Given the description of an element on the screen output the (x, y) to click on. 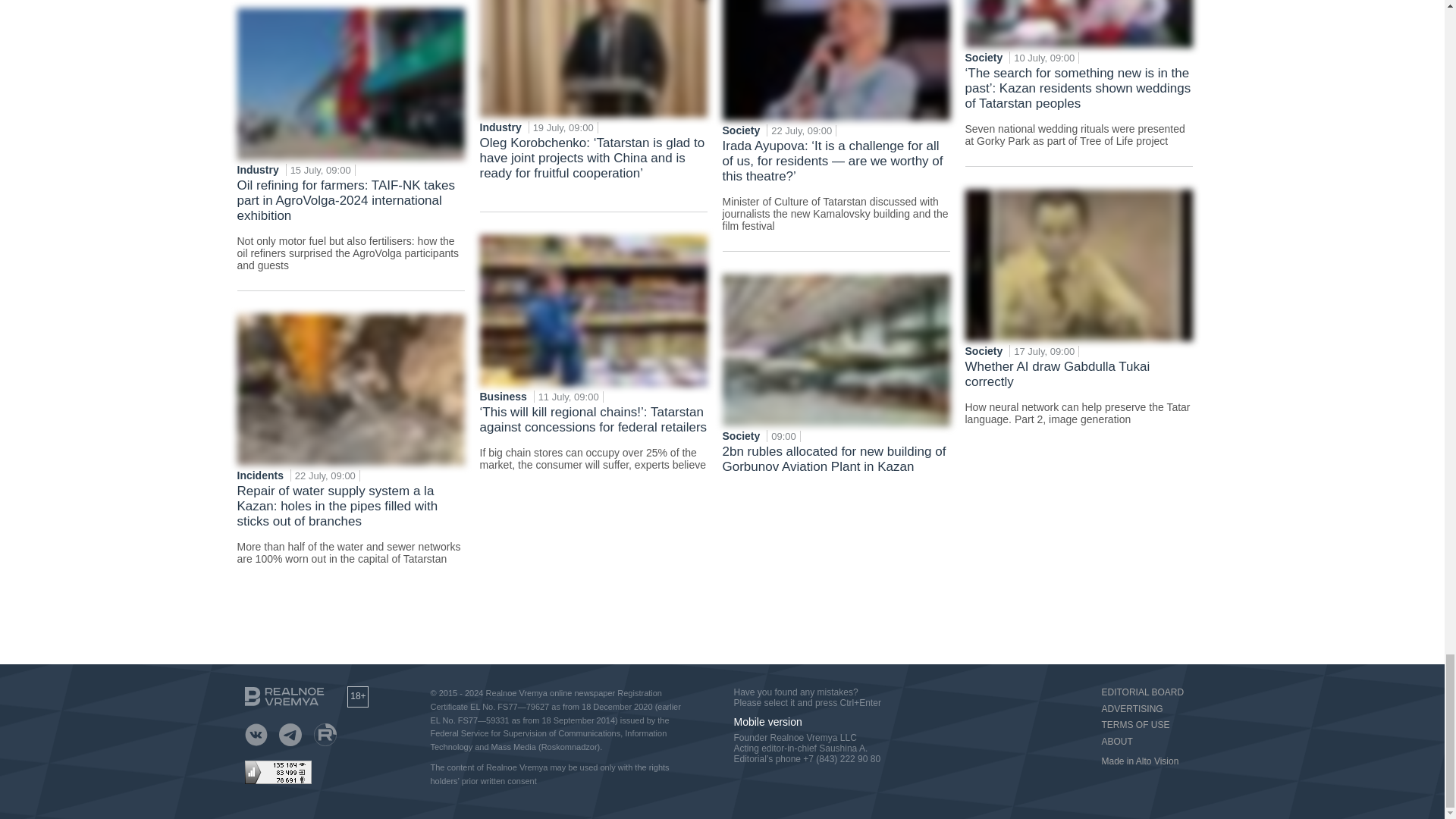
Incidents (260, 475)
Industry (258, 169)
